Given the description of an element on the screen output the (x, y) to click on. 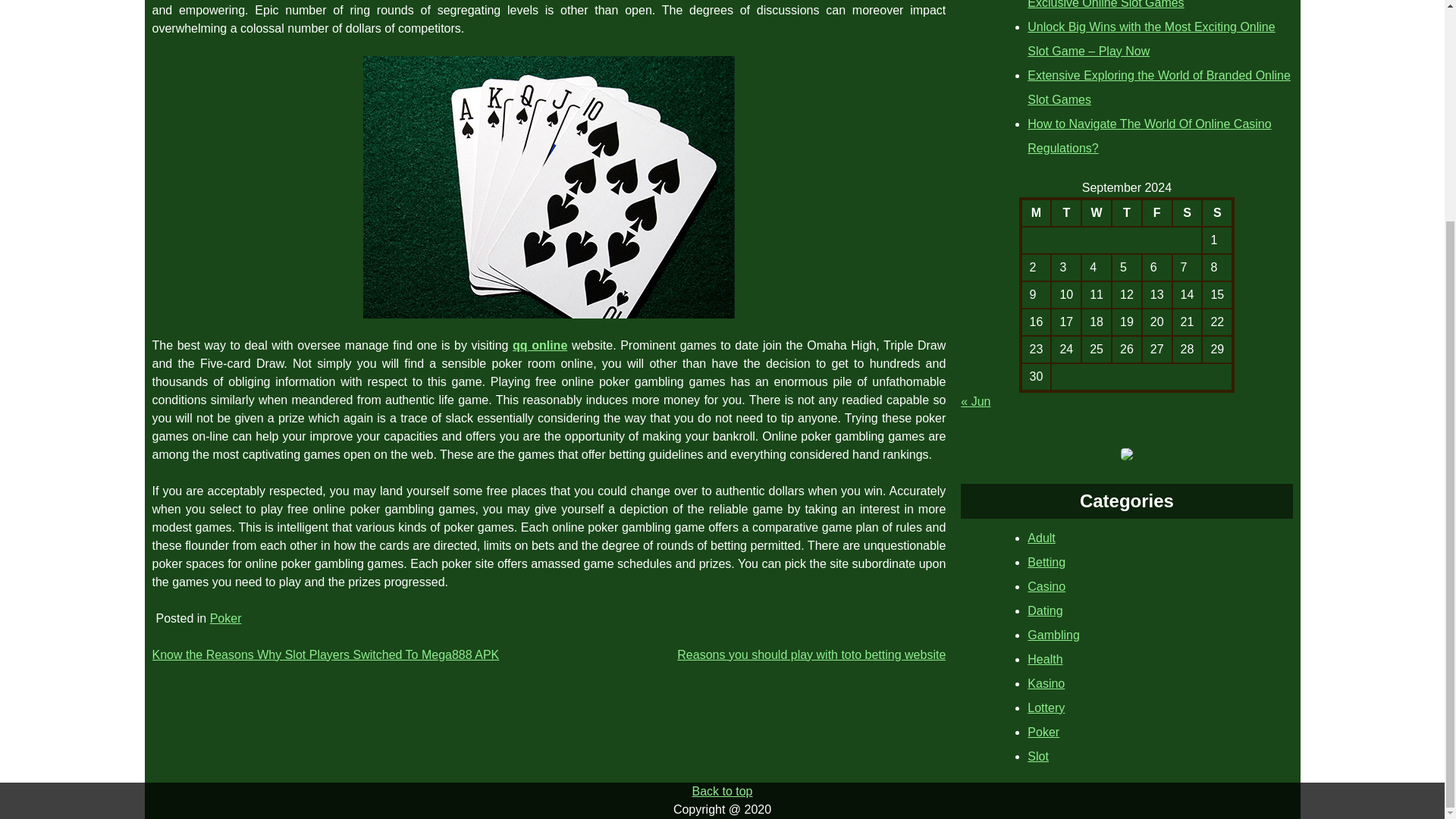
Gambling (1052, 634)
Slot (1037, 756)
Tuesday (1066, 212)
Monday (1035, 212)
Know the Reasons Why Slot Players Switched To Mega888 APK (325, 654)
Casino (1046, 585)
Kasino (1045, 683)
Betting (1046, 562)
How to Navigate The World Of Online Casino Regulations? (1149, 135)
Extensive Exploring the World of Branded Online Slot Games (1158, 87)
